Given the description of an element on the screen output the (x, y) to click on. 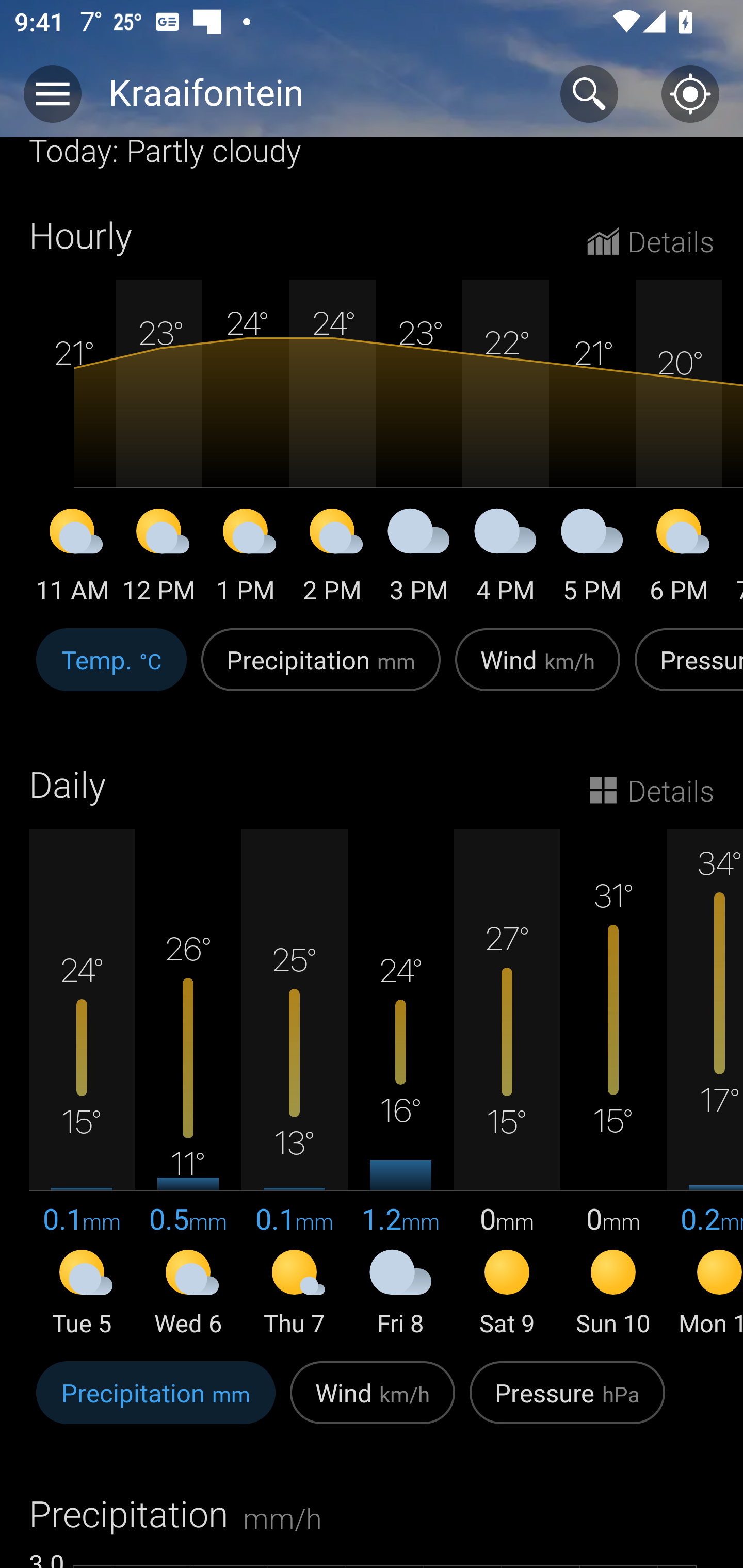
11 AM (71, 558)
12 PM (158, 558)
1 PM (245, 558)
2 PM (332, 558)
3 PM (418, 558)
4 PM (505, 558)
5 PM (592, 558)
6 PM (679, 558)
Temp. °C (110, 669)
Precipitation mm (320, 669)
Wind km/h (537, 669)
Pressure (685, 669)
24° 15° 0.1 mm Tue 5 (81, 1084)
26° 11° 0.5 mm Wed 6 (188, 1084)
25° 13° 0.1 mm Thu 7 (294, 1084)
24° 16° 1.2 mm Fri 8 (400, 1084)
27° 15° 0 mm Sat 9 (506, 1084)
31° 15° 0 mm Sun 10 (613, 1084)
34° 17° 0.2 mm Mon 11 (704, 1084)
Precipitation mm (155, 1403)
Wind km/h (372, 1403)
Pressure hPa (567, 1403)
